Given the description of an element on the screen output the (x, y) to click on. 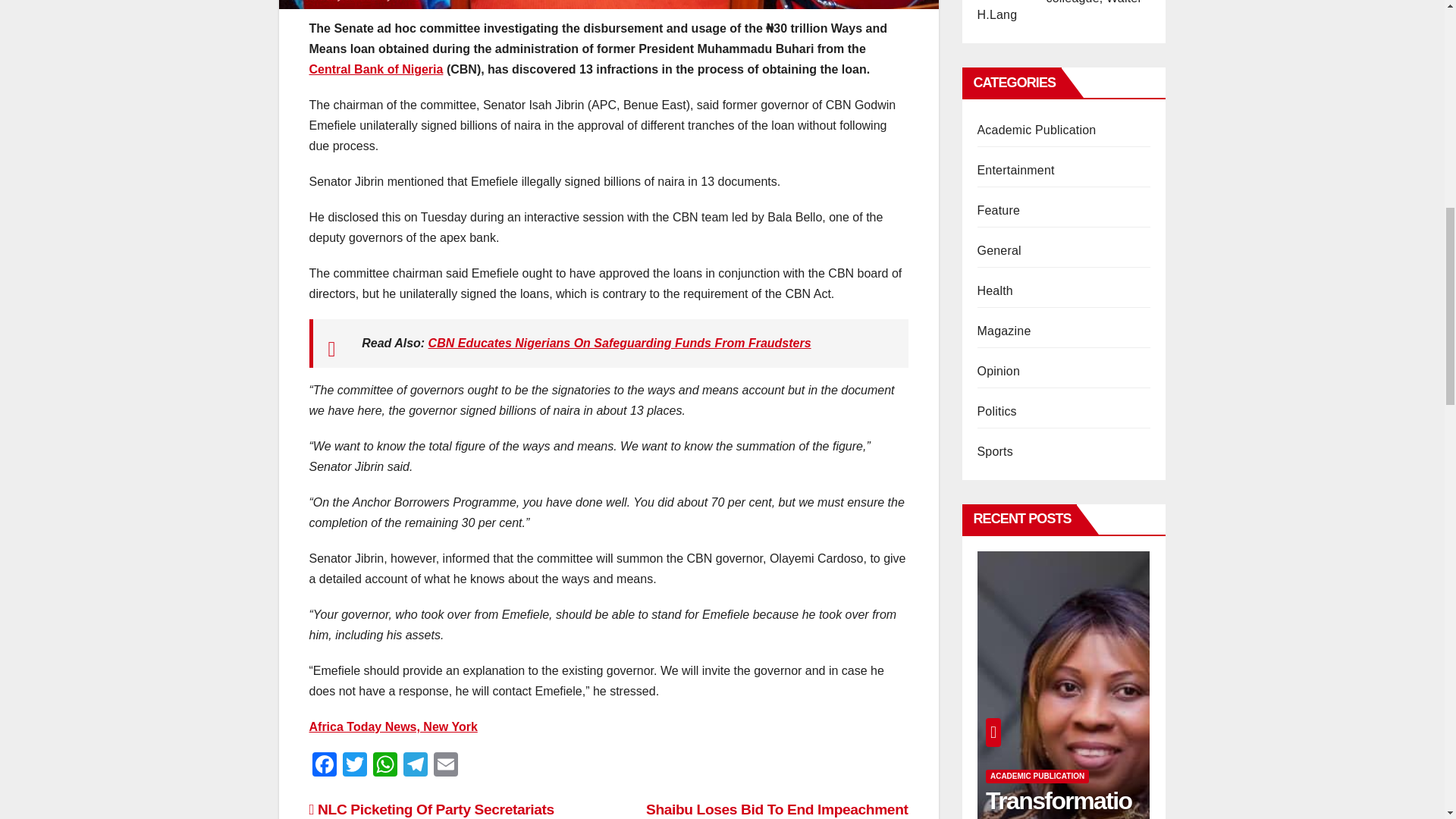
Facebook (323, 766)
NLC Picketing Of Party Secretariats Deemed Unlawful By LP (431, 810)
WhatsApp (384, 766)
Facebook (323, 766)
Africa Today News, New York (392, 726)
Email (445, 766)
Telegram (415, 766)
Twitter (354, 766)
Twitter (354, 766)
Shaibu Loses Bid To End Impeachment Proceedings (776, 810)
Central Bank of Nigeria (376, 69)
Email (445, 766)
WhatsApp (384, 766)
CBN Educates Nigerians On Safeguarding Funds From Fraudsters (619, 342)
Telegram (415, 766)
